Given the description of an element on the screen output the (x, y) to click on. 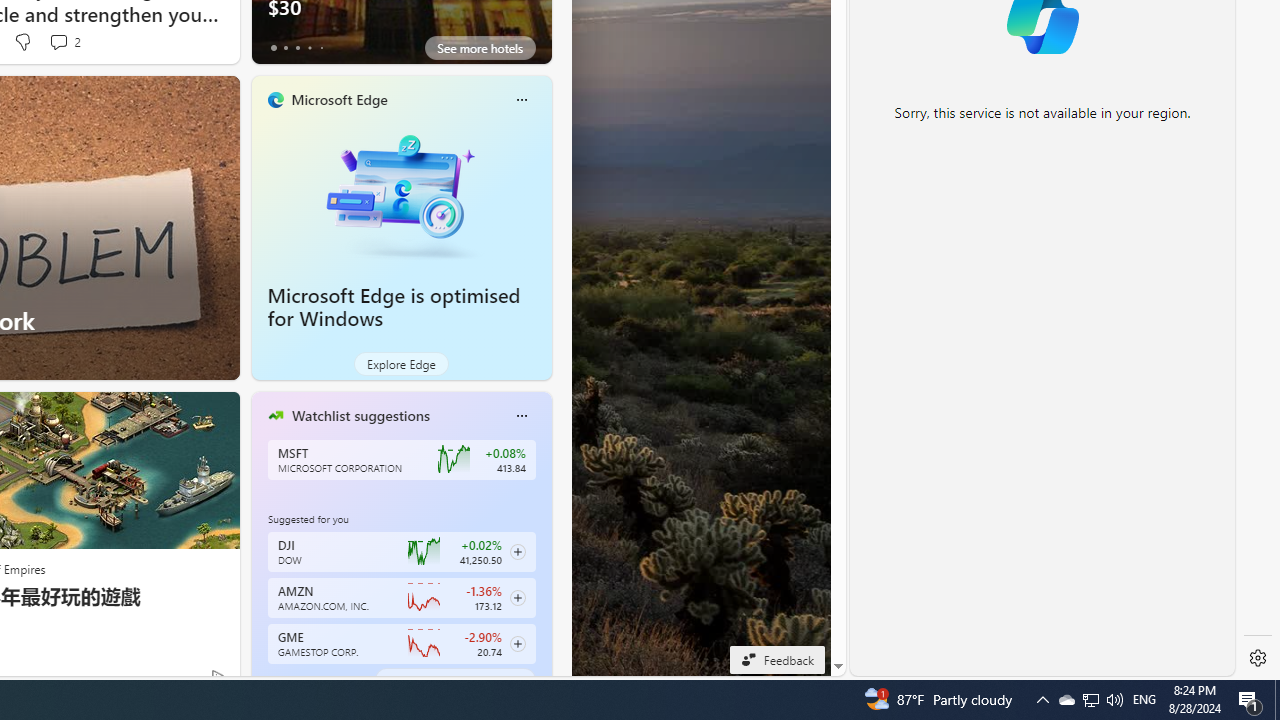
tab-0 (273, 679)
See watchlist suggestions (454, 679)
Class: icon-img (521, 416)
Microsoft Edge is optimised for Windows (393, 307)
View comments 2 Comment (64, 42)
Microsoft Edge is optimised for Windows (401, 193)
Class: follow-button  m (517, 643)
